Given the description of an element on the screen output the (x, y) to click on. 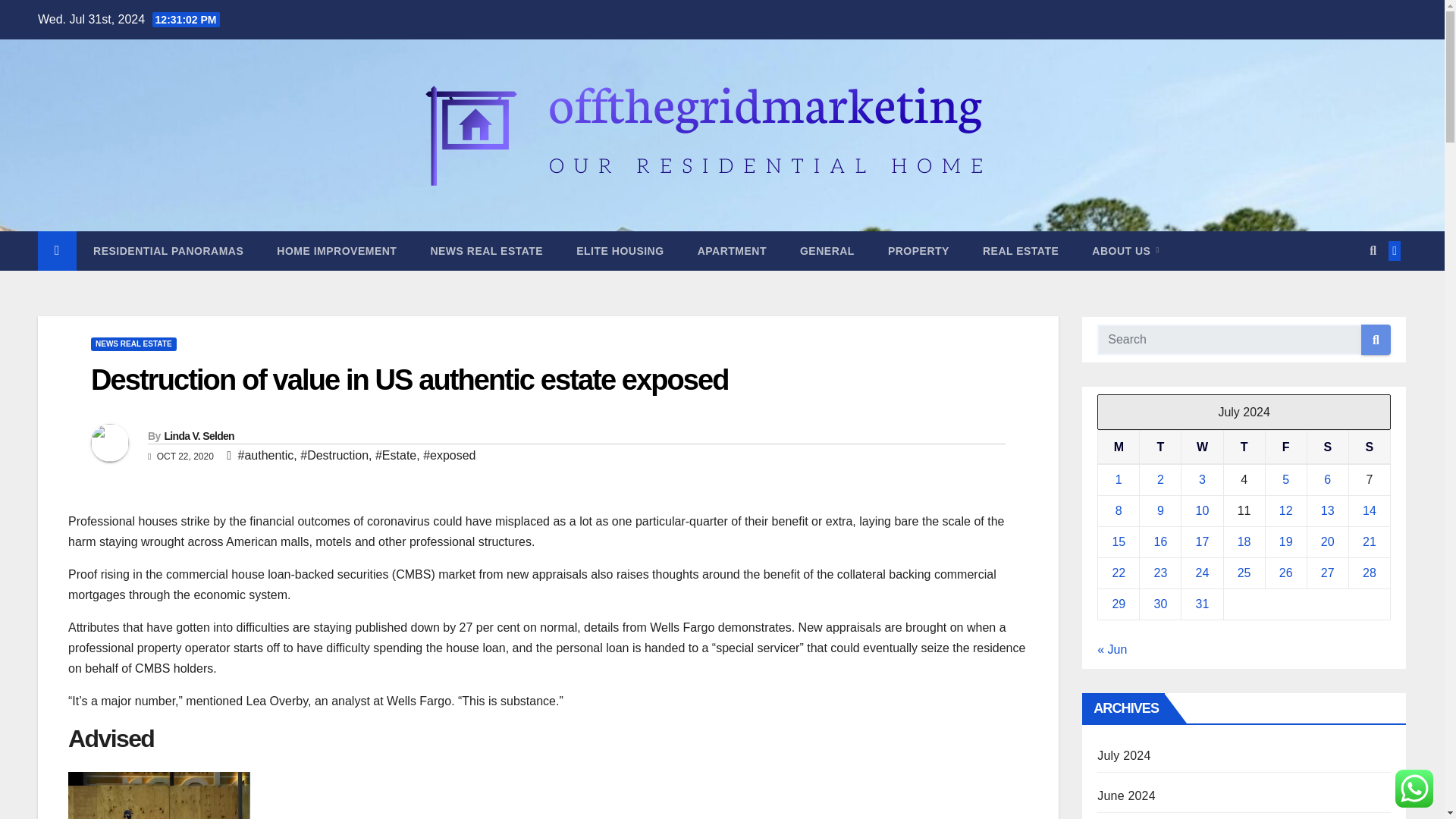
PROPERTY (918, 250)
NEWS REAL ESTATE (133, 344)
Destruction of value in US authentic estate exposed (409, 379)
GENERAL (826, 250)
Home Improvement (336, 250)
Elite Housing (619, 250)
Real Estate (1020, 250)
Residential Panoramas (168, 250)
ABOUT US (1124, 250)
APARTMENT (732, 250)
General (826, 250)
News real estate (486, 250)
Linda V. Selden (197, 435)
Apartment (732, 250)
NEWS REAL ESTATE (486, 250)
